Given the description of an element on the screen output the (x, y) to click on. 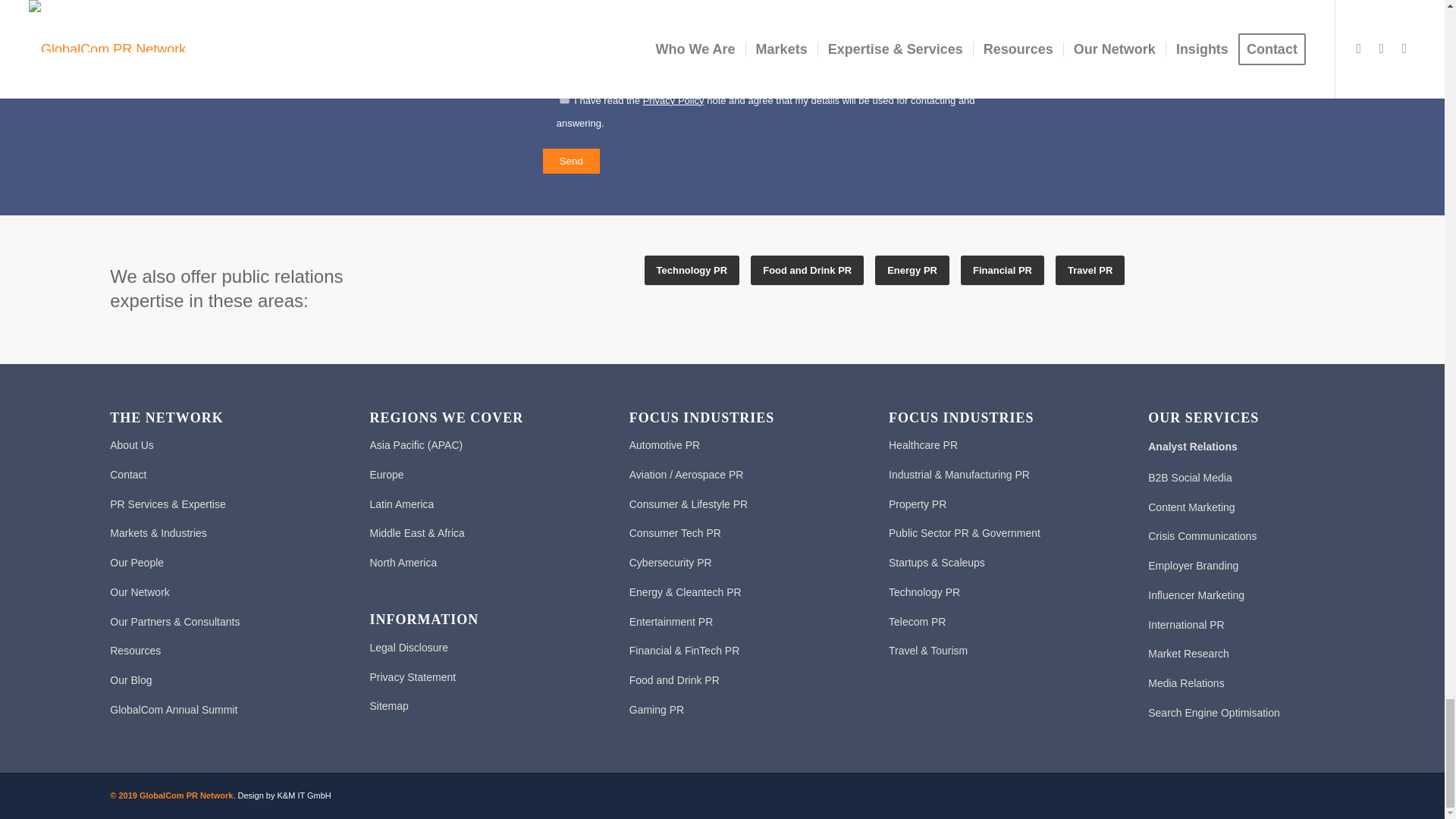
1 (564, 99)
Send (571, 160)
